Given the description of an element on the screen output the (x, y) to click on. 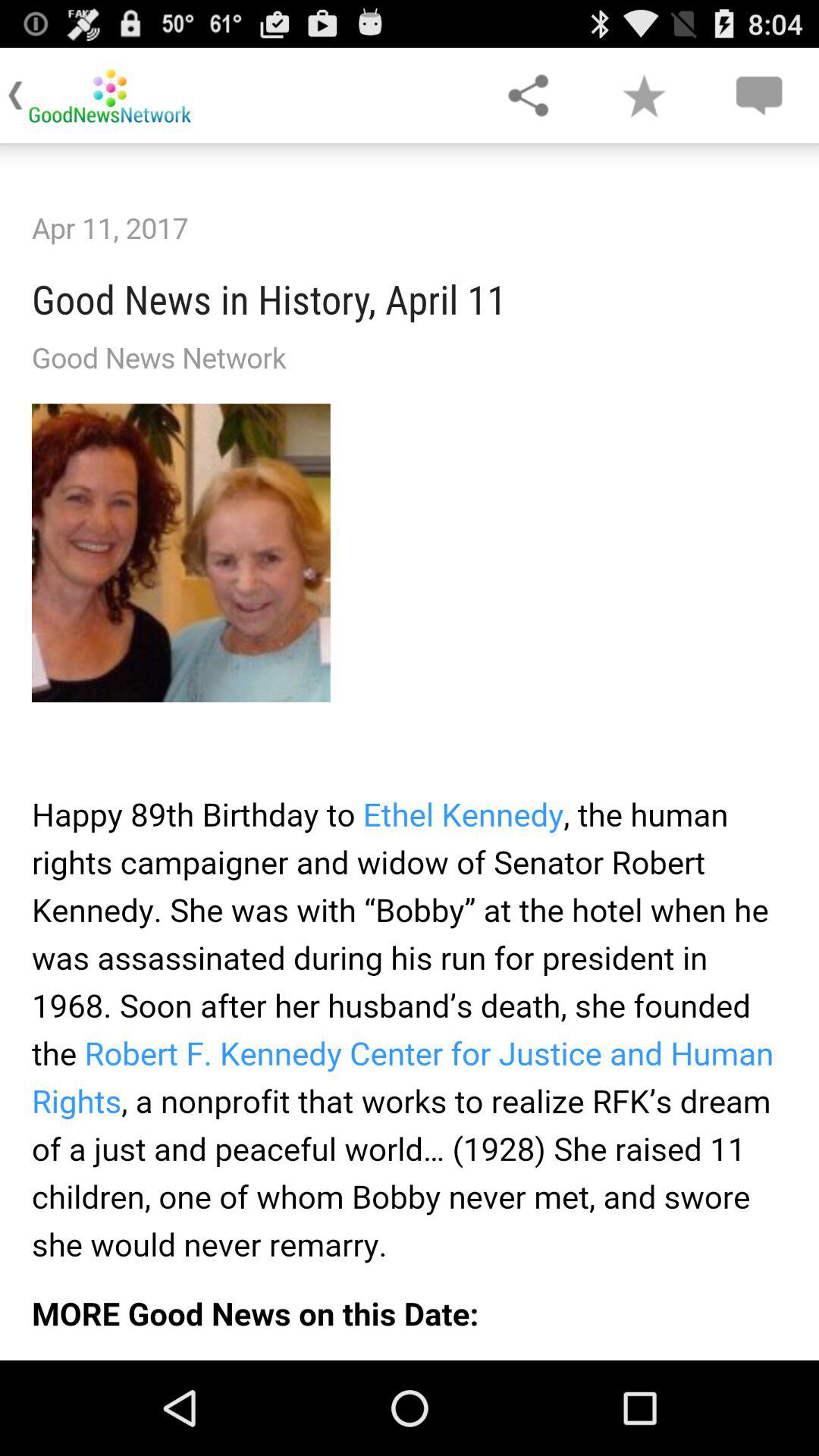
share on social media (527, 95)
